Given the description of an element on the screen output the (x, y) to click on. 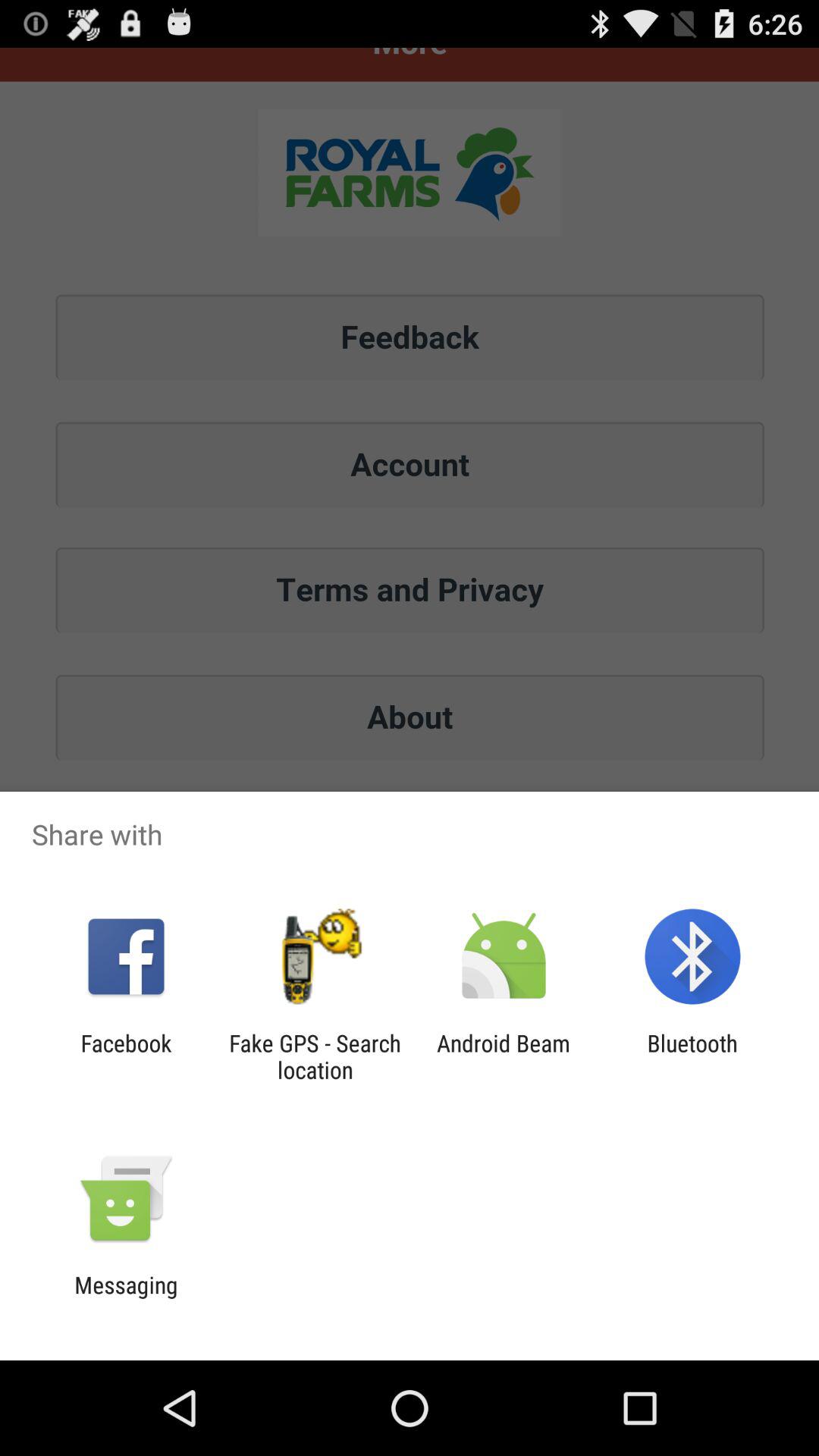
launch the item to the right of the android beam item (692, 1056)
